Given the description of an element on the screen output the (x, y) to click on. 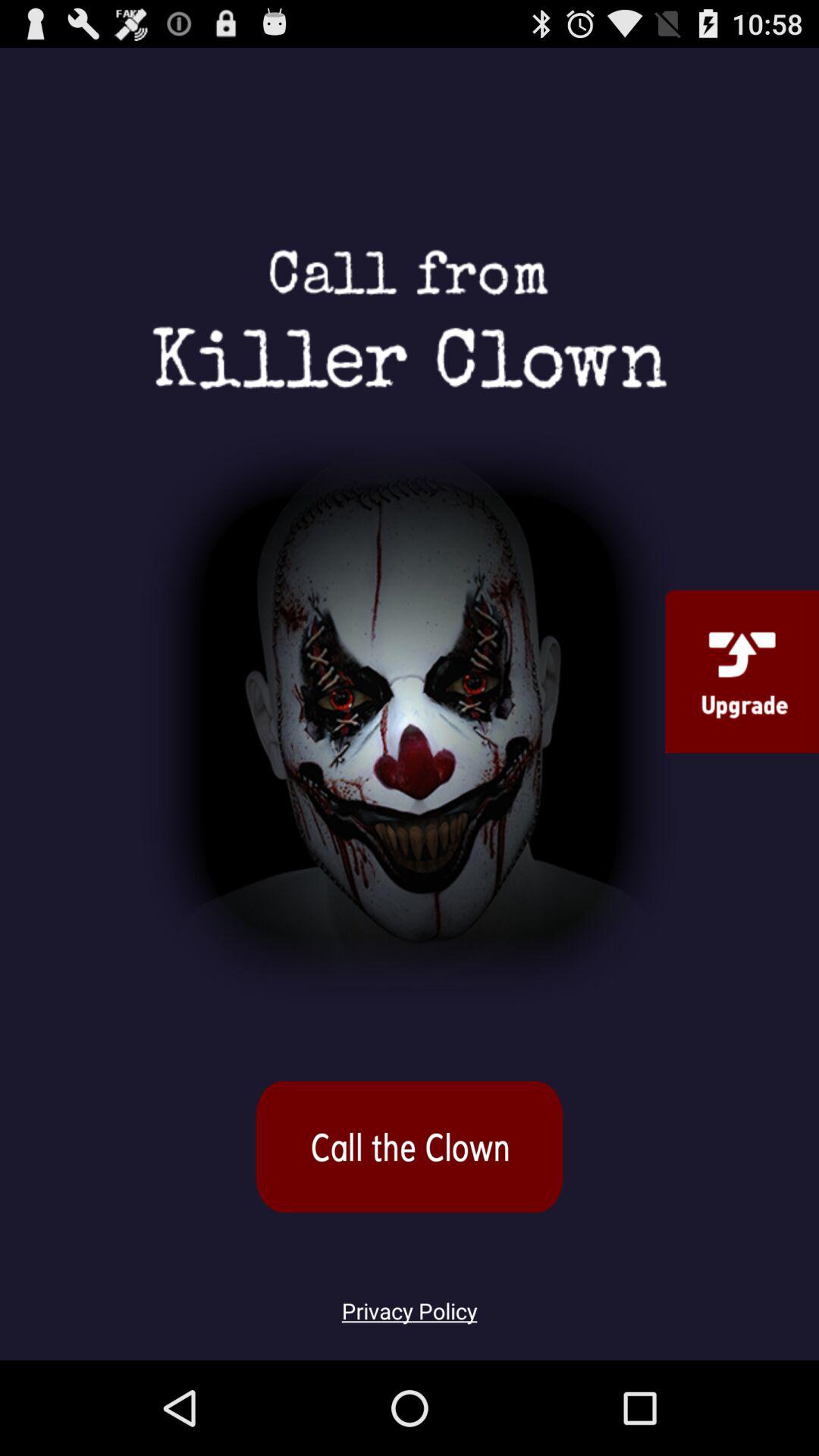
call (409, 1146)
